Given the description of an element on the screen output the (x, y) to click on. 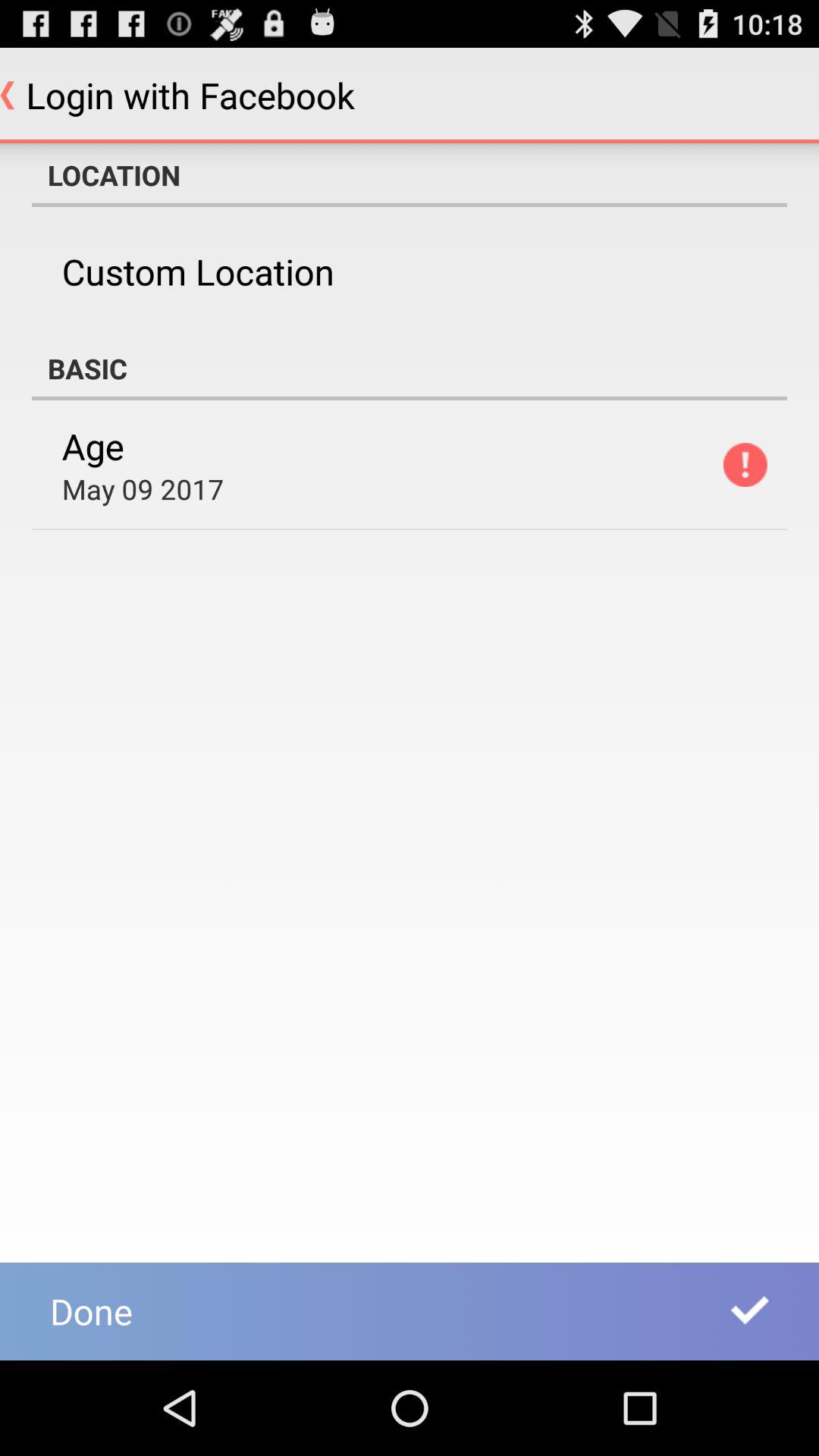
choose the basic app (409, 368)
